Given the description of an element on the screen output the (x, y) to click on. 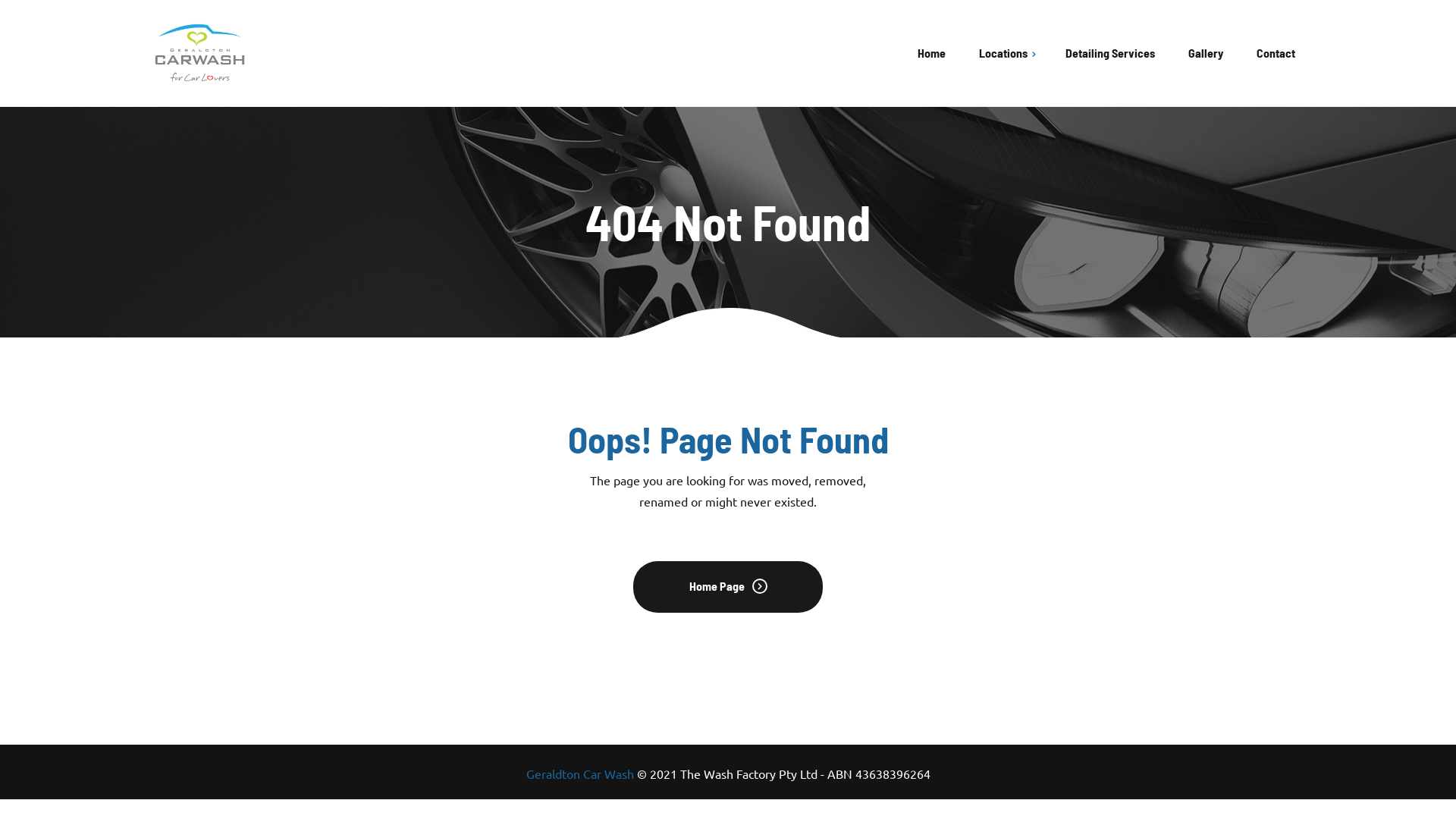
Detailing Services Element type: text (1109, 52)
Locations Element type: text (1003, 52)
Home Page Element type: text (727, 586)
Geraldton Car Wash Element type: text (579, 773)
Gallery Element type: text (1205, 52)
Home Element type: text (931, 52)
Contact Element type: text (1275, 52)
